Given the description of an element on the screen output the (x, y) to click on. 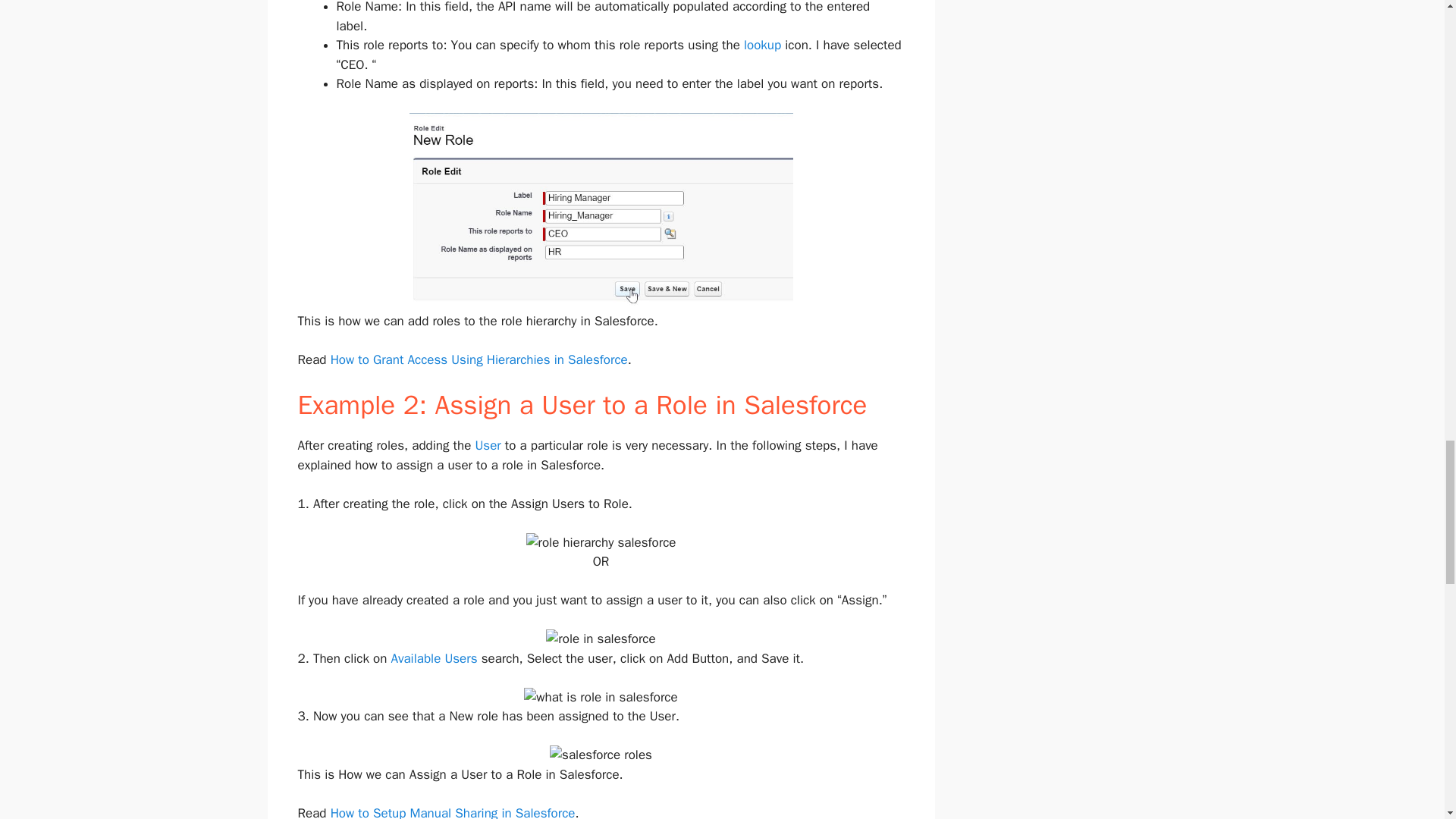
lookup (762, 44)
Available Users (433, 658)
How to Grant Access Using Hierarchies in Salesforce (478, 359)
User (488, 445)
How to Setup Manual Sharing in Salesforce (452, 812)
